Given the description of an element on the screen output the (x, y) to click on. 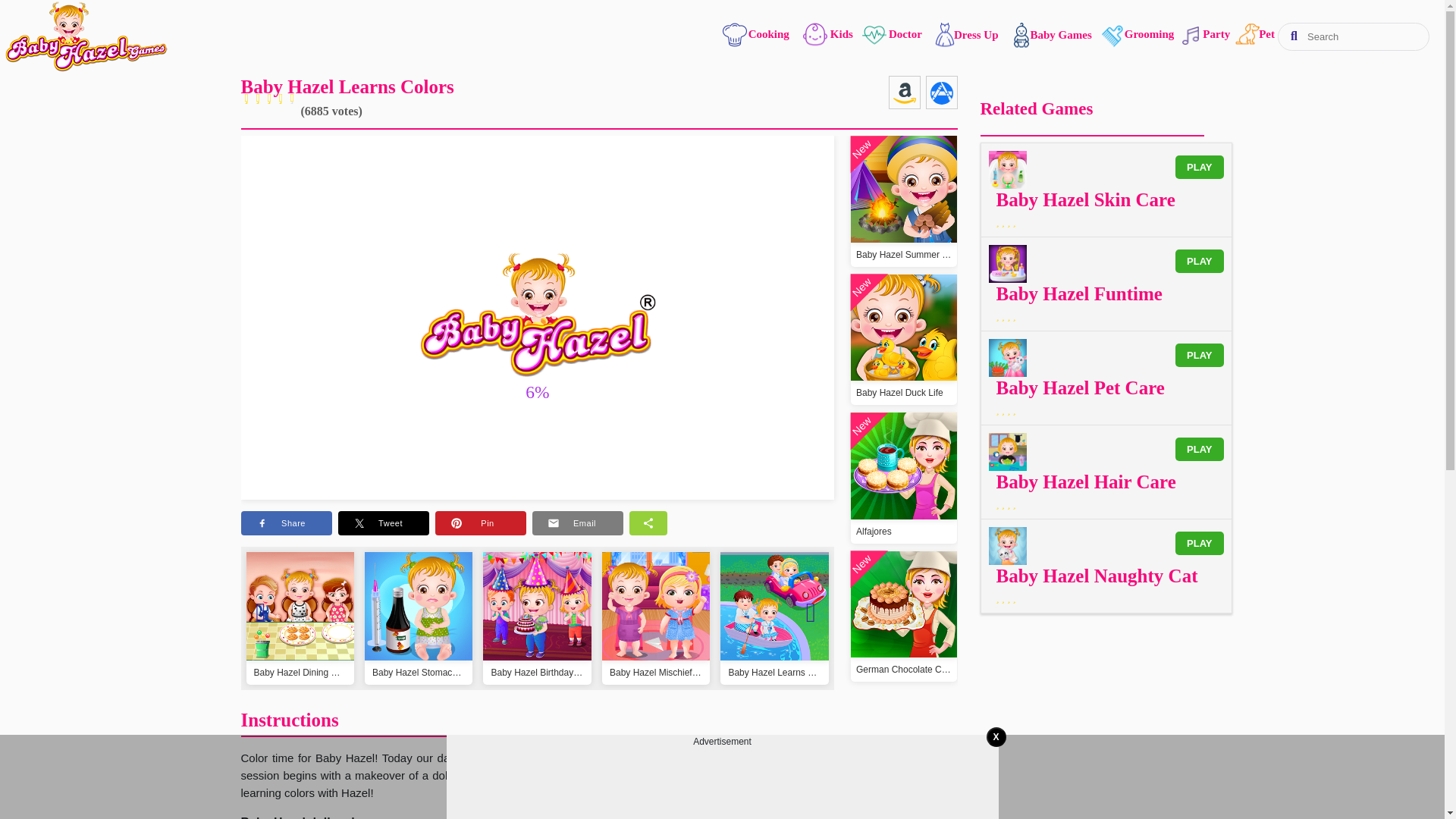
Dress Up (959, 34)
Kids (824, 35)
Baby Hazel Mischief Time (656, 641)
Doctor (891, 33)
Baby Hazel Learns Vehicles (774, 641)
Baby Hazel Dining Manners (299, 641)
Baby Hazel Birthday Surprise (537, 641)
Baby Hazel Stomach Care (418, 641)
Baby Games (1045, 34)
Cooking (757, 35)
Pet (1247, 35)
Party (1197, 33)
Grooming (1131, 35)
